Given the description of an element on the screen output the (x, y) to click on. 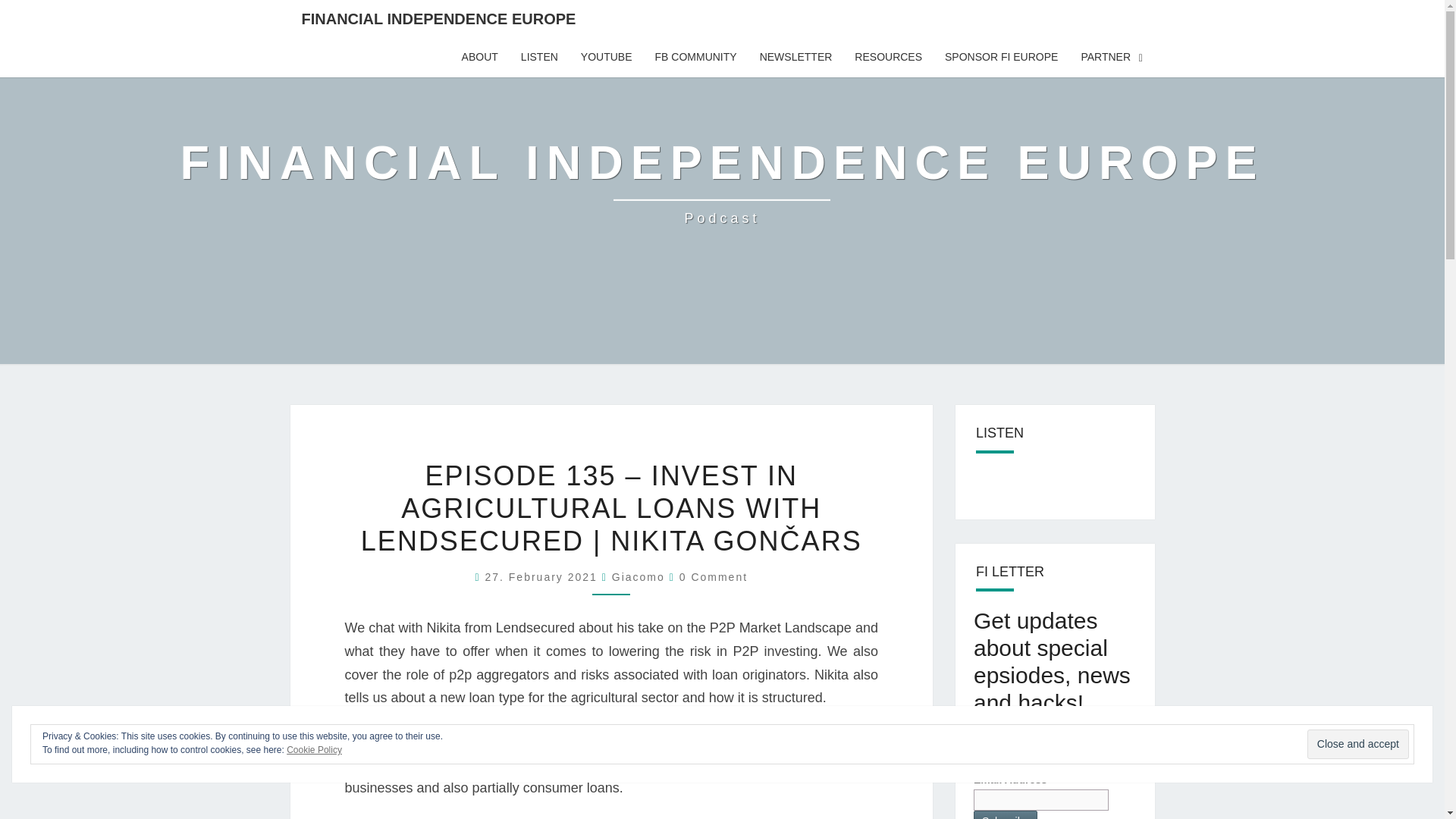
View all posts by Giacomo (638, 576)
PARTNER (1111, 56)
NEWSLETTER (796, 56)
Subscribe (1005, 814)
ABOUT (479, 56)
SPONSOR FI EUROPE (1000, 56)
YOUTUBE (606, 56)
FB COMMUNITY (695, 56)
FINANCIAL INDEPENDENCE EUROPE (437, 18)
19:09 (542, 576)
RESOURCES (888, 56)
0 Comment (722, 182)
Giacomo (713, 576)
Financial Independence Europe (638, 576)
